Given the description of an element on the screen output the (x, y) to click on. 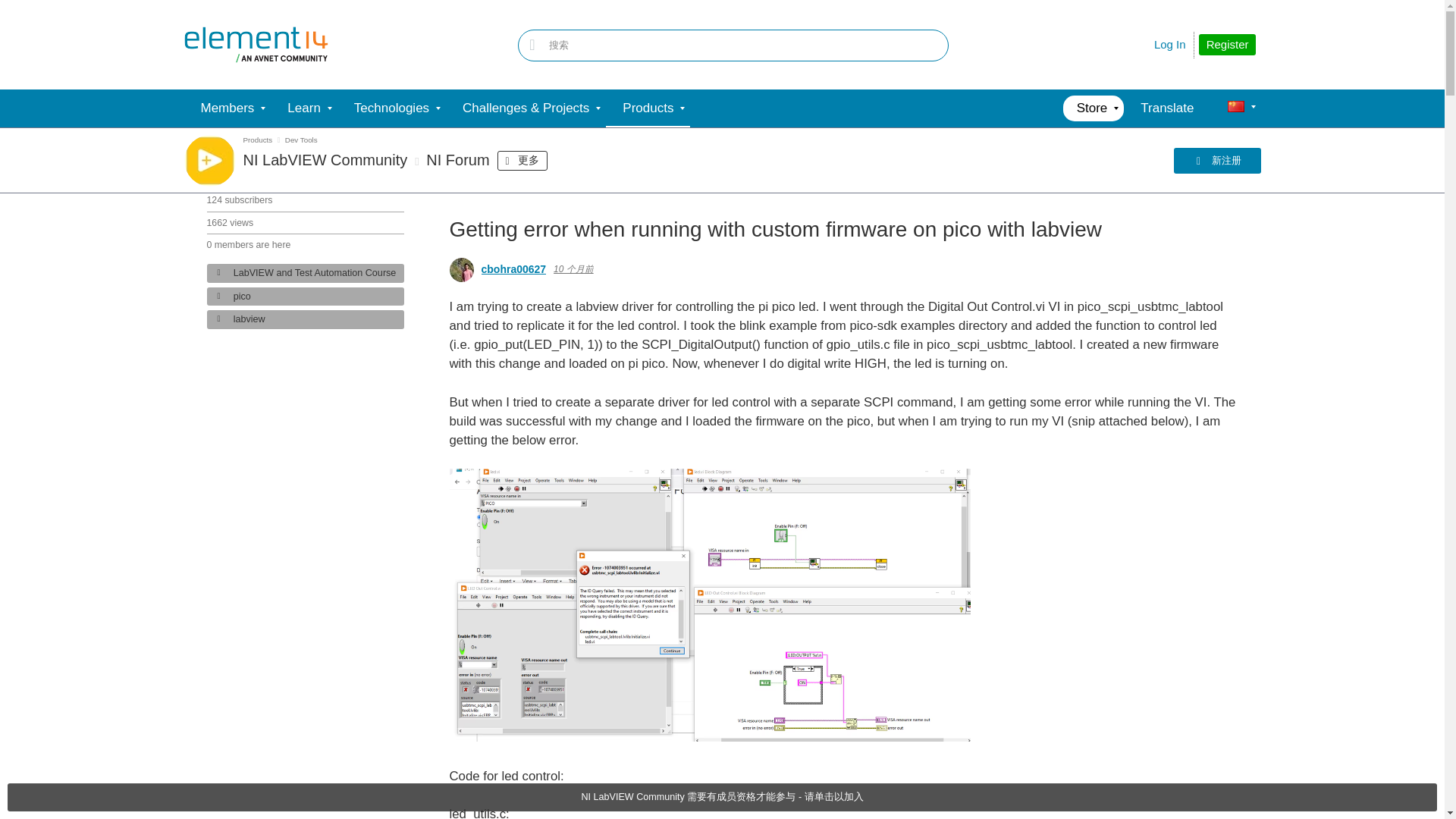
Learn (303, 108)
Register (1226, 44)
Log In (1170, 44)
Technologies (391, 108)
Register (1226, 44)
Log In (1170, 44)
Members (226, 108)
